Given the description of an element on the screen output the (x, y) to click on. 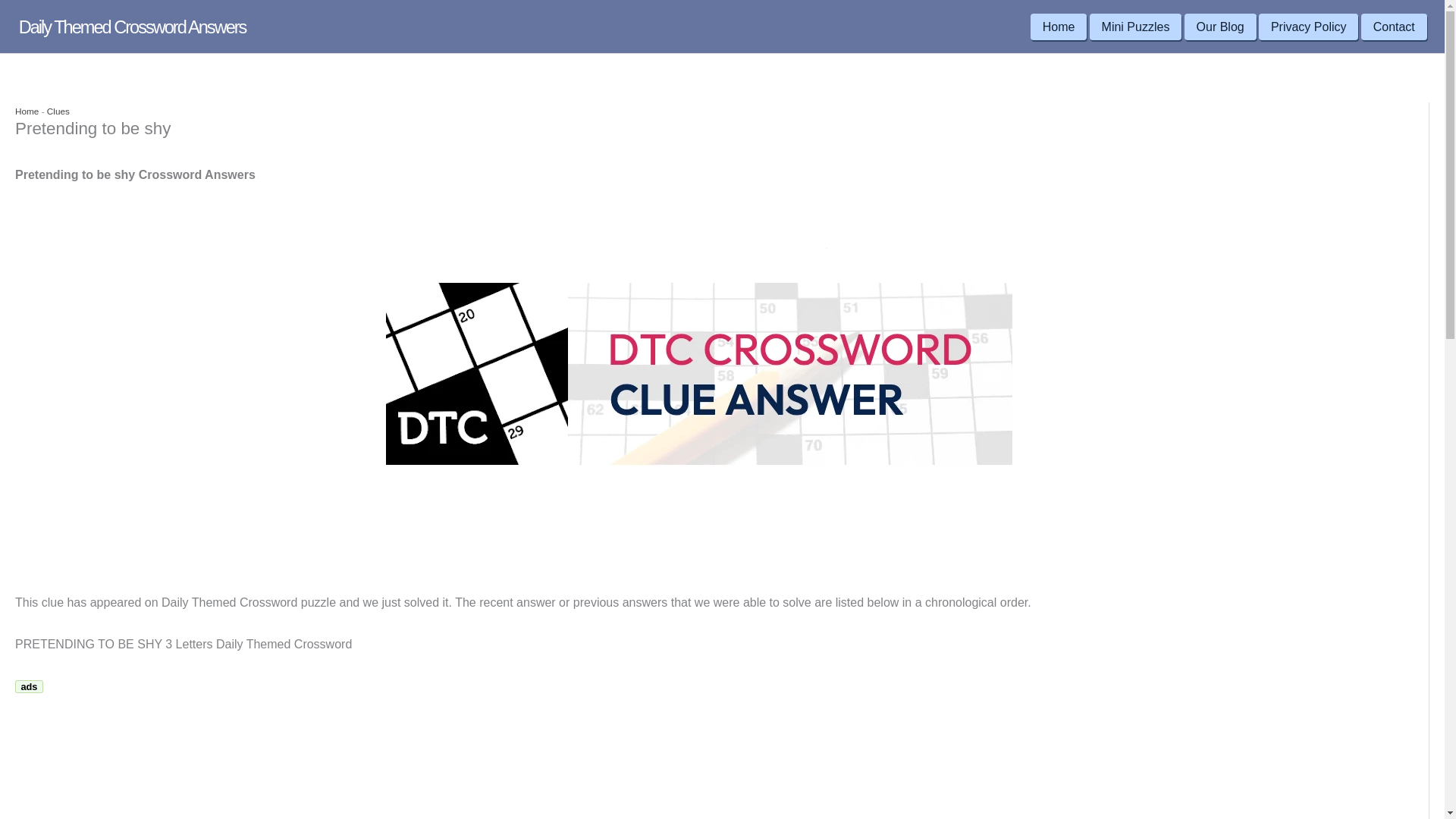
Home (26, 111)
Advertisement (141, 758)
Mini Puzzles (1135, 26)
Our Blog (1220, 26)
Home (1058, 26)
Clues (57, 111)
Contact (1393, 26)
Privacy Policy (1308, 26)
Daily Themed Crossword Answers (131, 26)
